Given the description of an element on the screen output the (x, y) to click on. 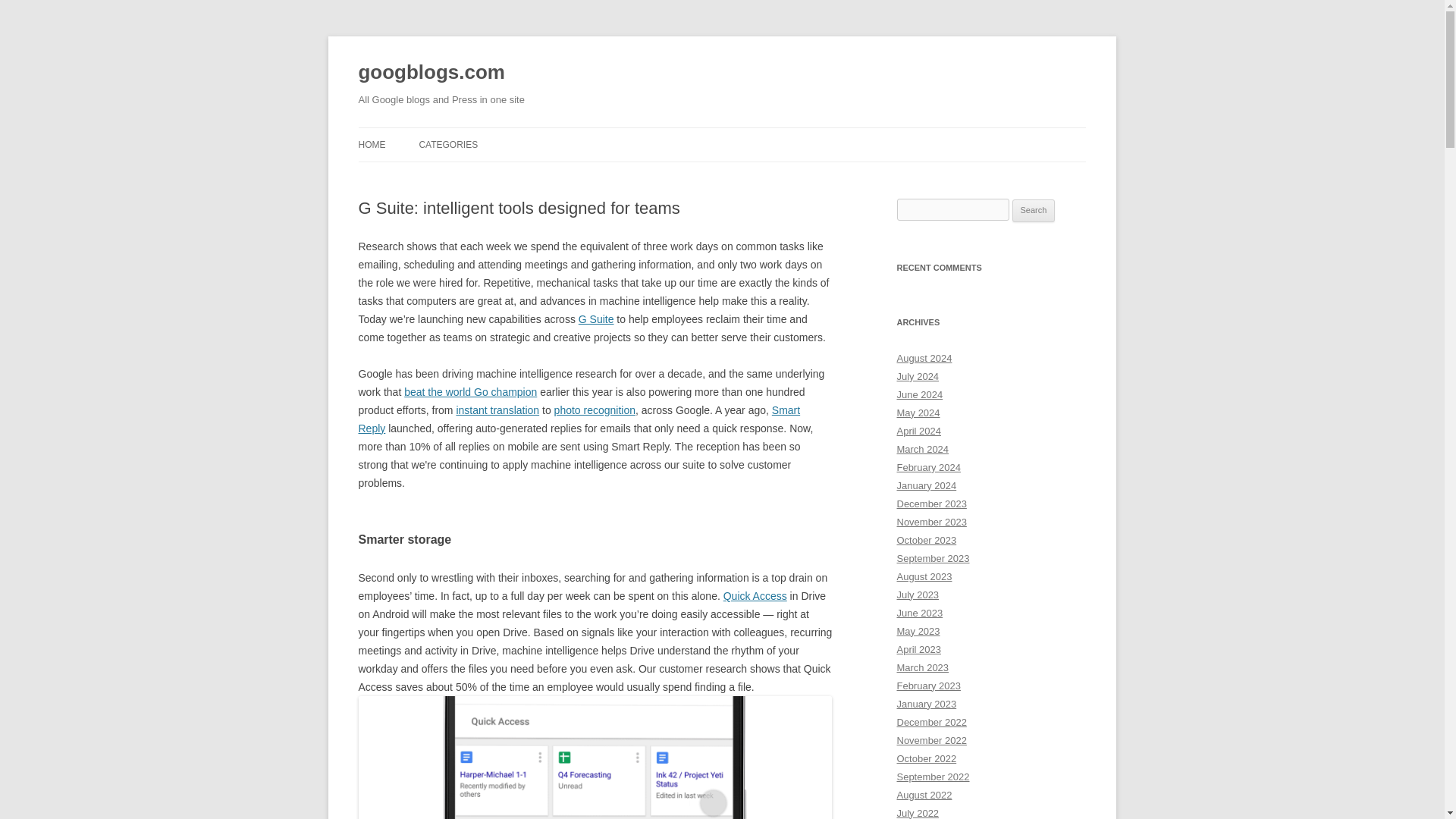
Search (1033, 210)
googblogs.com (430, 72)
Quick Access (755, 595)
CATEGORIES (448, 144)
August 2024 (924, 357)
beat the world Go champion (470, 391)
G Suite (596, 318)
instant translation (496, 410)
GOOGLE ADS DEVELOPER BLOG (494, 176)
Search (1033, 210)
photo recognition (594, 410)
Smart Reply (578, 419)
